Given the description of an element on the screen output the (x, y) to click on. 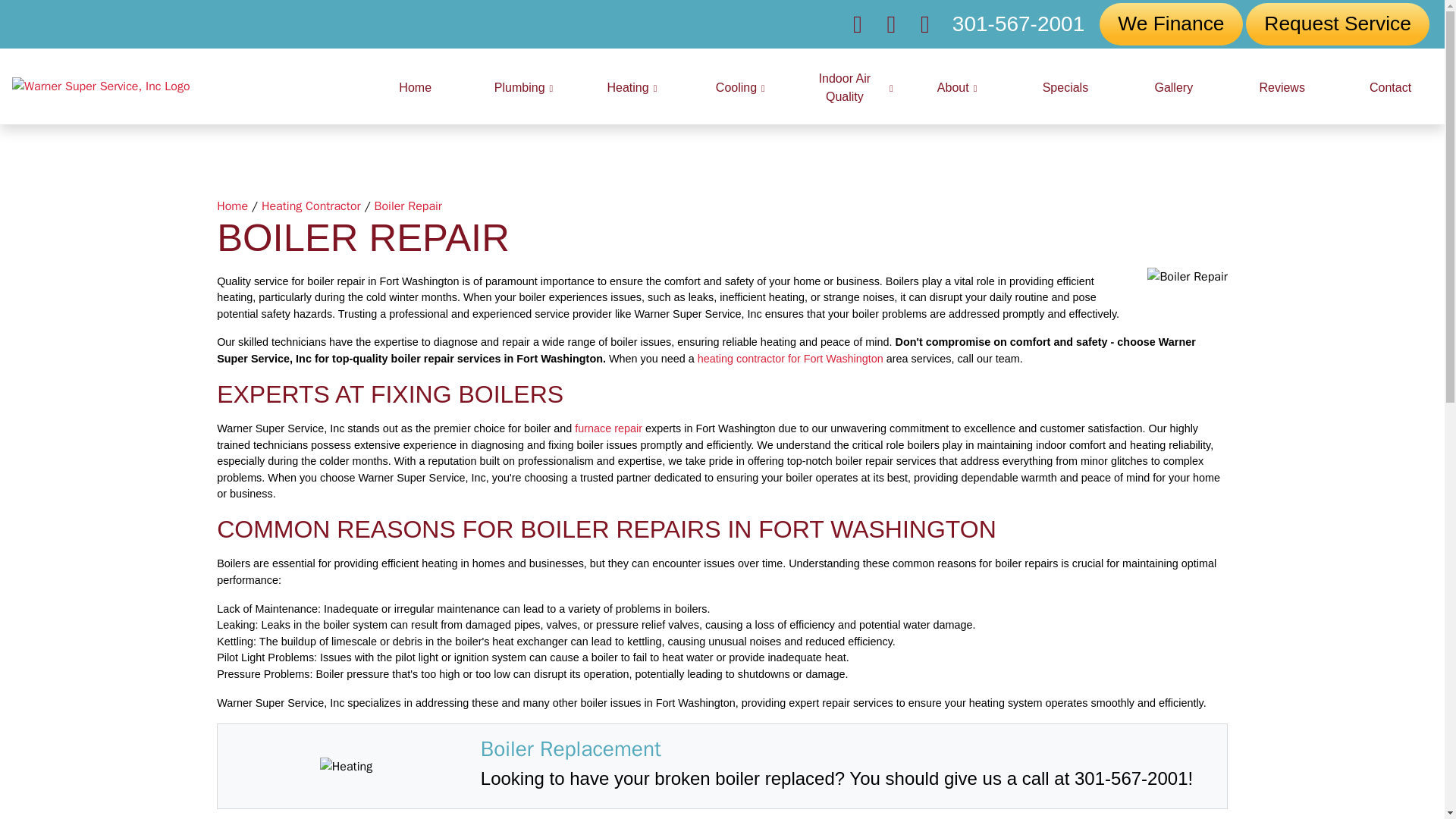
Heating Contractor (311, 206)
Home (231, 206)
Boiler Repair (408, 206)
